Given the description of an element on the screen output the (x, y) to click on. 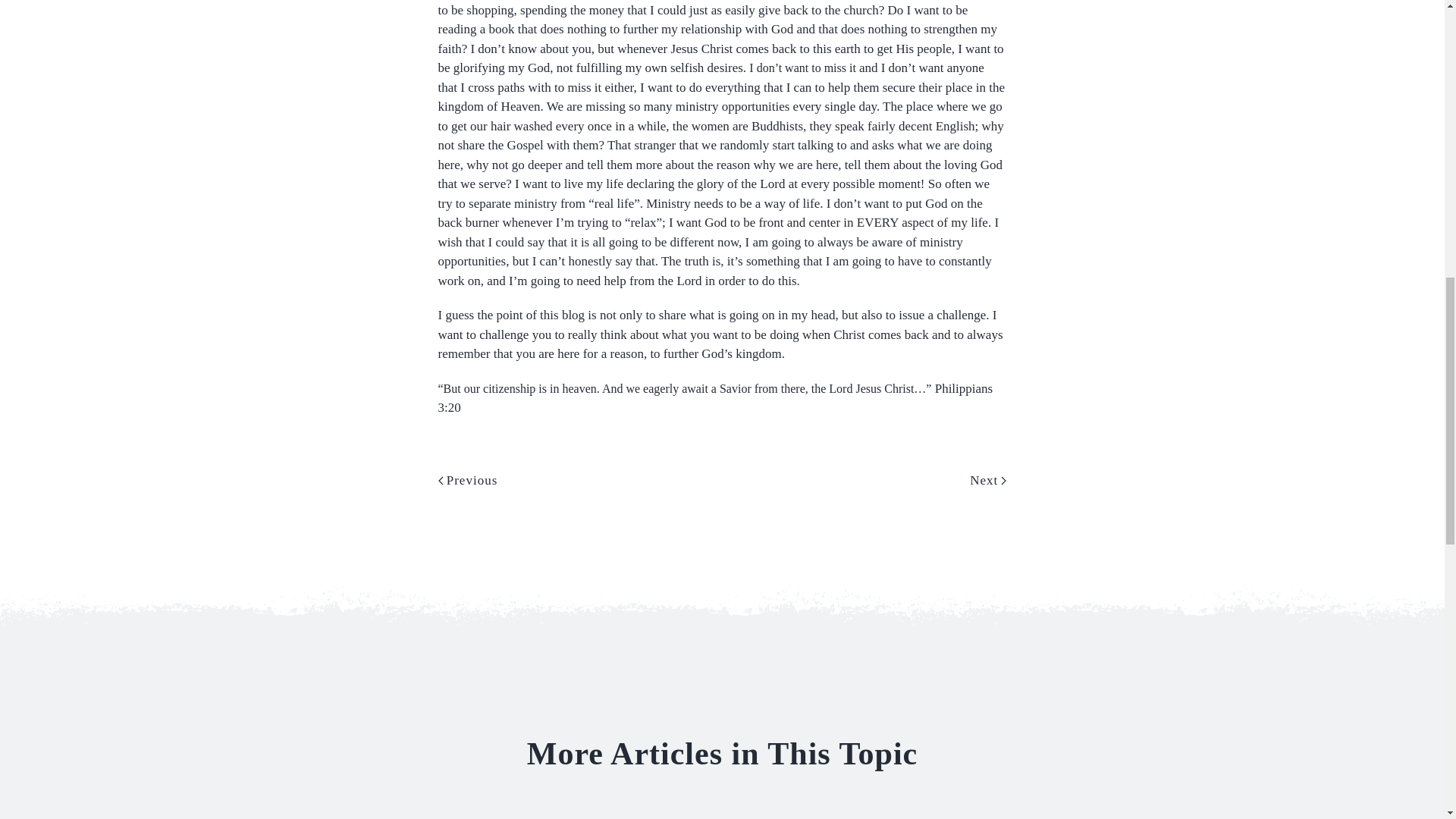
Top 10 Things to Bring With You to Phuket (322, 814)
Get over yourself, Hannah. (1120, 814)
Next (987, 464)
490 Baht Buzzer. (589, 814)
Previous (467, 464)
This is Cambodia (855, 814)
